Given the description of an element on the screen output the (x, y) to click on. 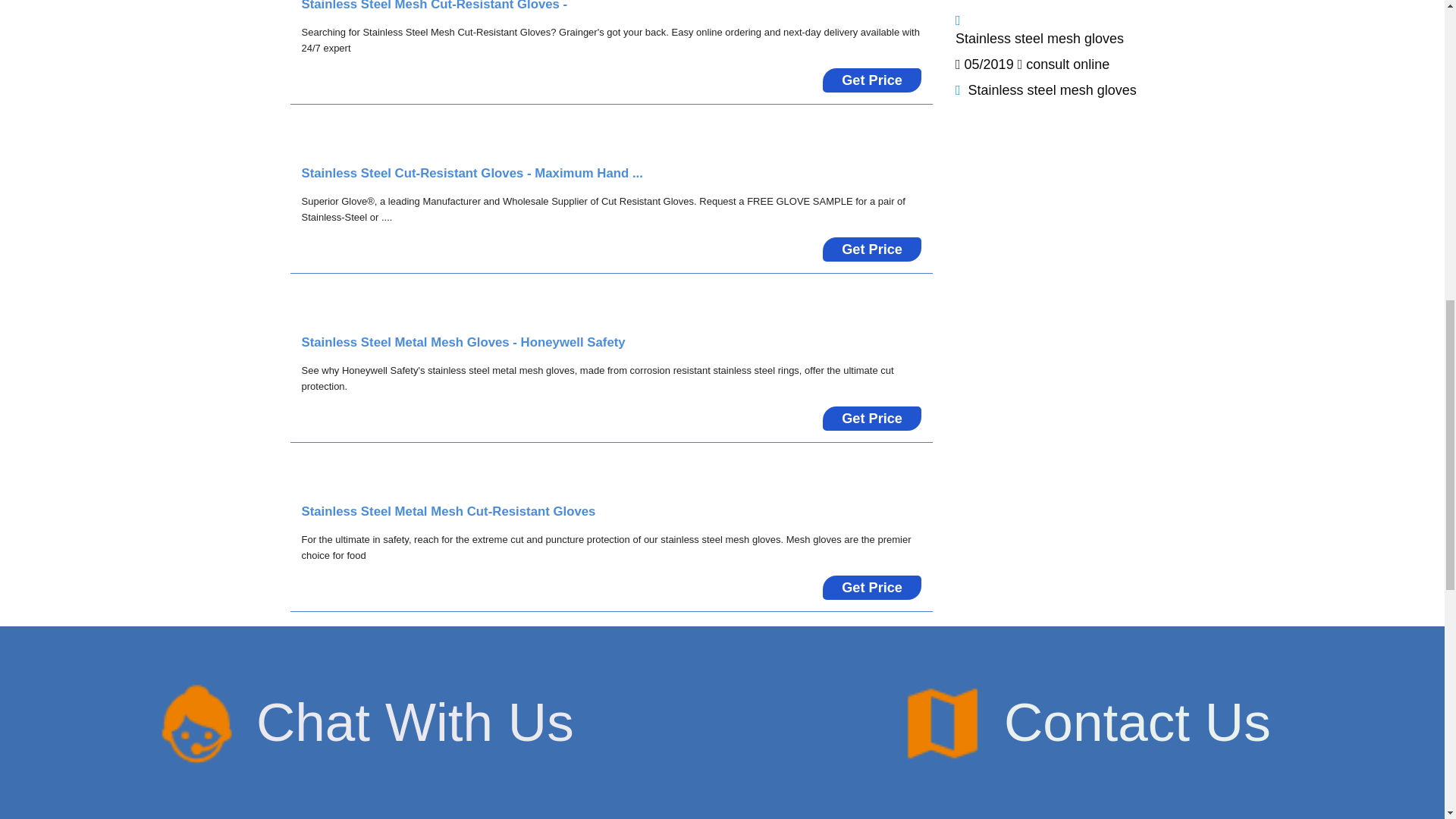
Stainless steel mesh gloves (1052, 89)
Stainless steel mesh gloves (1052, 89)
Stainless steel mesh gloves (1039, 38)
Get Price (871, 587)
Get Price (871, 249)
consult online (1067, 64)
Stainless steel mesh gloves (1039, 38)
Get Price (871, 755)
Get Price (871, 418)
Get Price (871, 79)
